Given the description of an element on the screen output the (x, y) to click on. 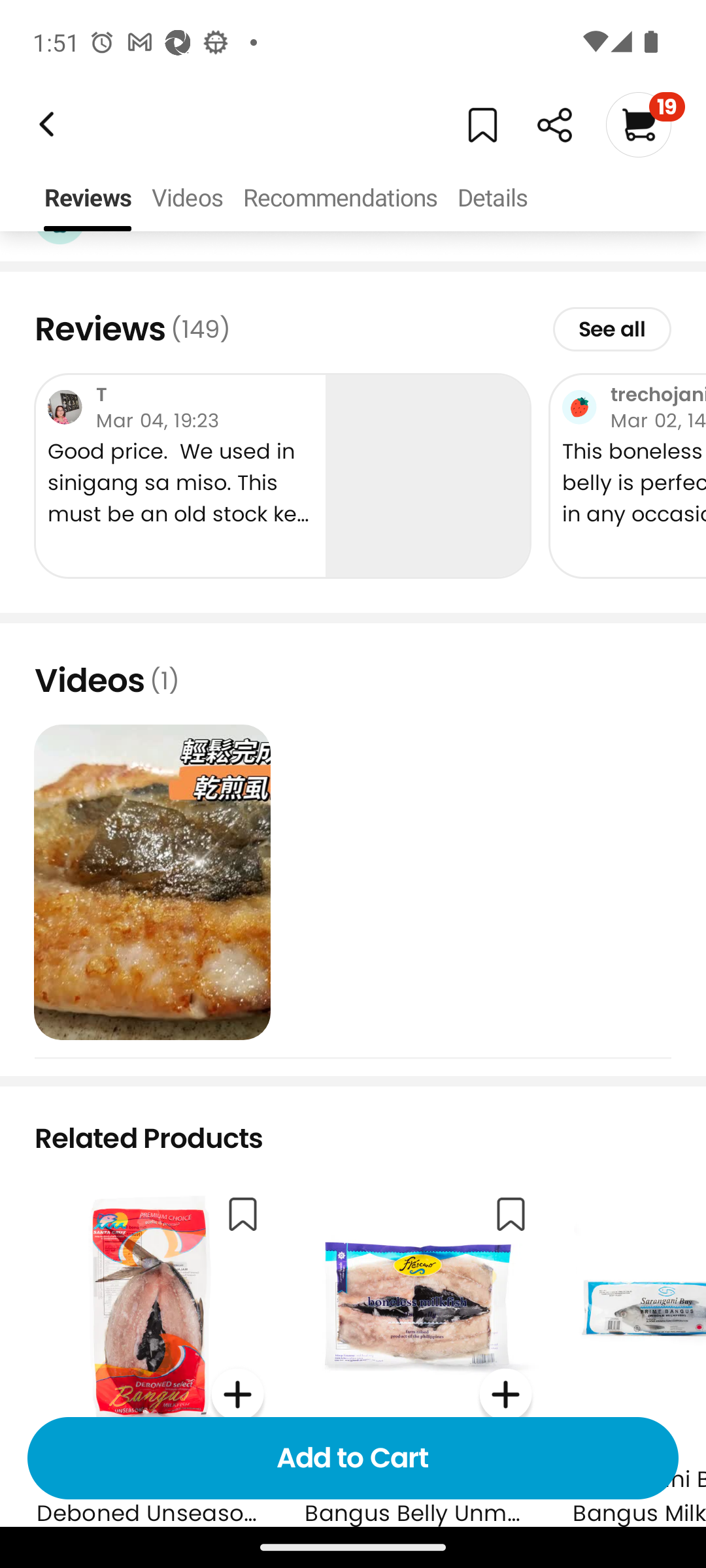
19 (644, 124)
Weee! (45, 124)
Weee! (554, 125)
Reviews (87, 199)
Videos (186, 199)
Recommendations (339, 199)
Details (491, 199)
Reviews (149) See all (353, 328)
Add to Cart (352, 1458)
